Given the description of an element on the screen output the (x, y) to click on. 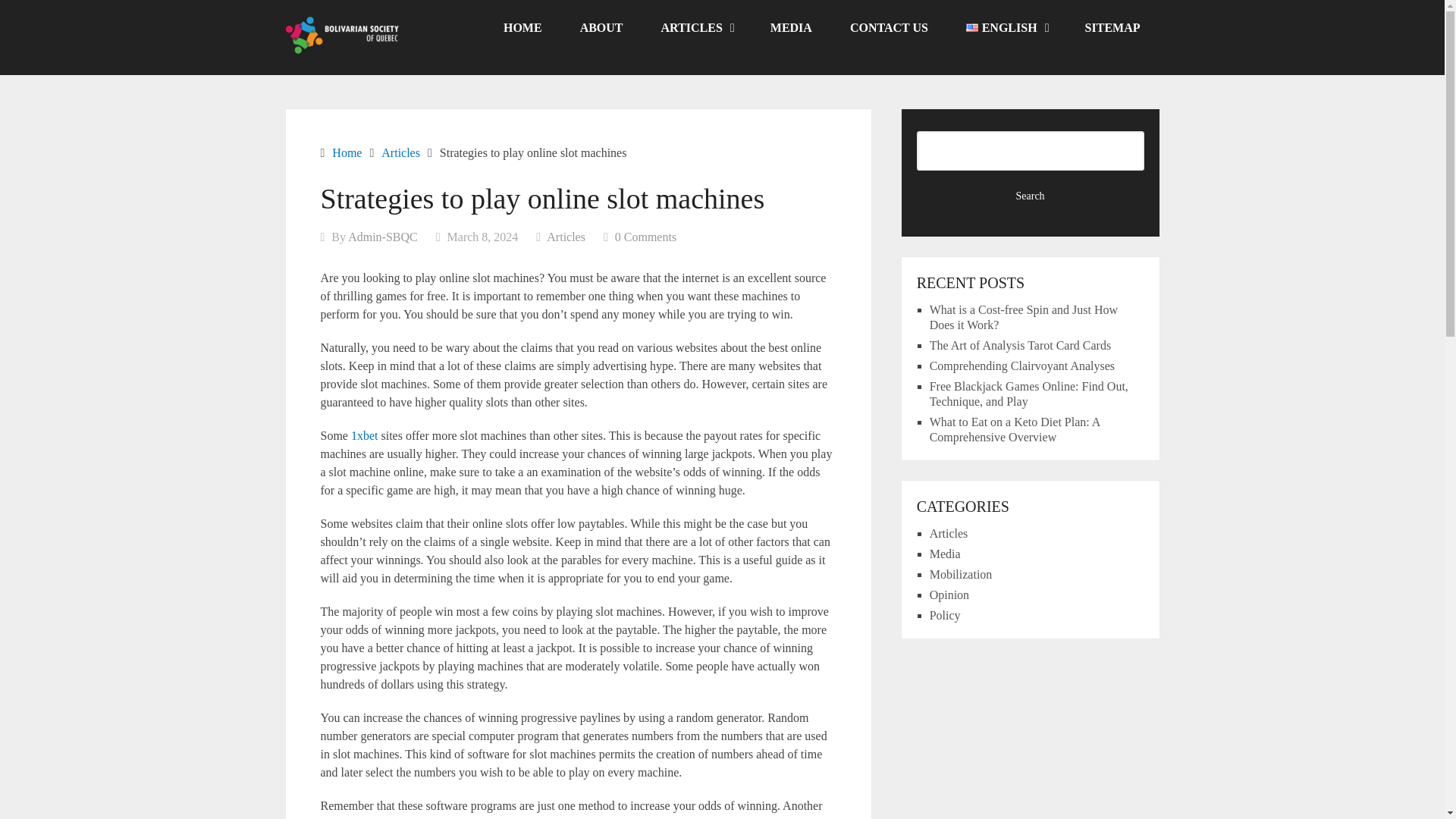
Search (1030, 196)
Admin-SBQC (382, 236)
What to Eat on a Keto Diet Plan: A Comprehensive Overview (1015, 429)
The Art of Analysis Tarot Card Cards (1020, 345)
CONTACT US (889, 28)
ENGLISH (1006, 28)
SITEMAP (1111, 28)
ABOUT (601, 28)
What is a Cost-free Spin and Just How Does it Work? (1024, 317)
Mobilization (961, 574)
